Given the description of an element on the screen output the (x, y) to click on. 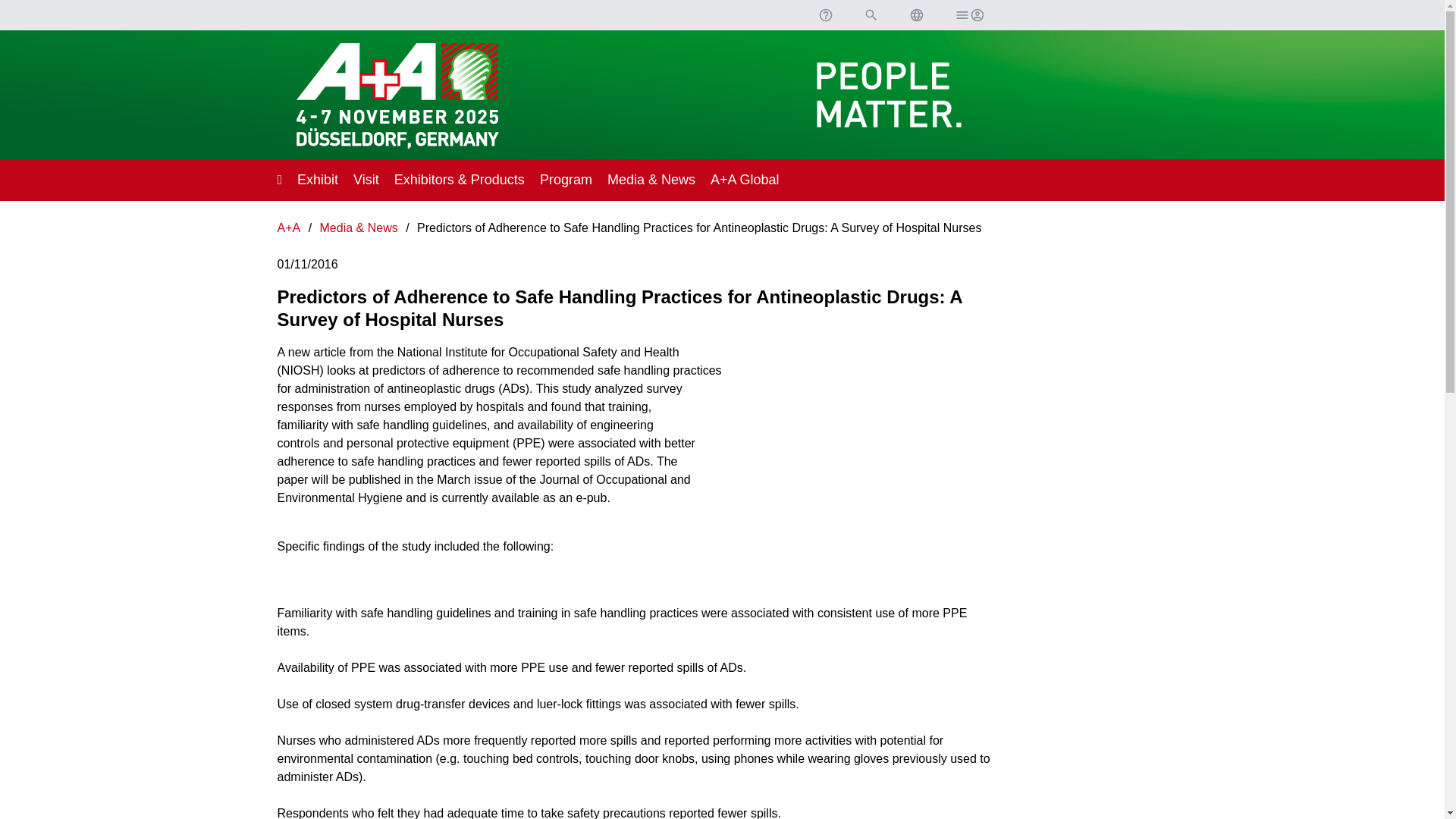
Search (870, 14)
Support (824, 14)
ENGLISH (915, 14)
Login (968, 14)
